Given the description of an element on the screen output the (x, y) to click on. 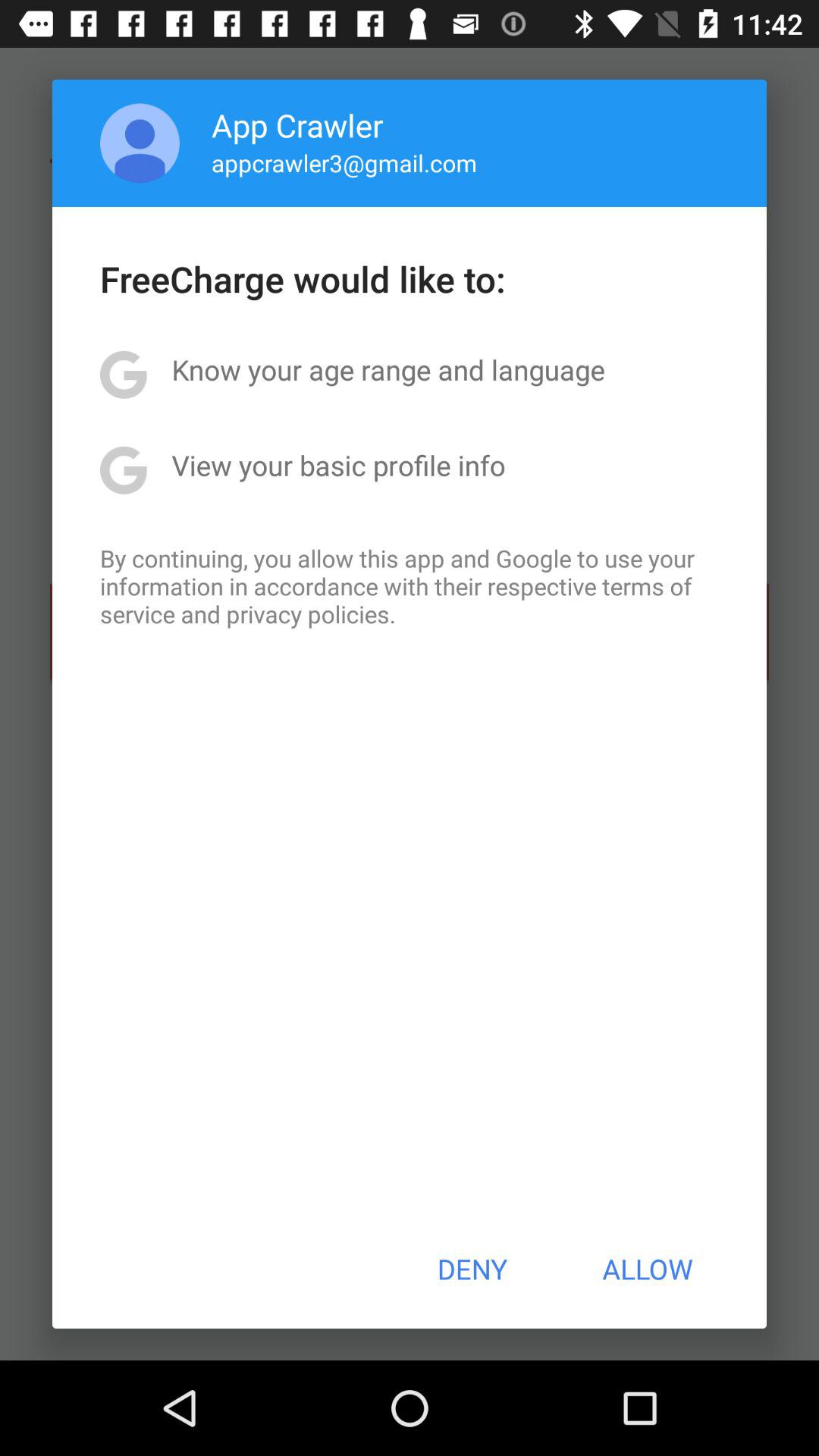
open deny item (471, 1268)
